Given the description of an element on the screen output the (x, y) to click on. 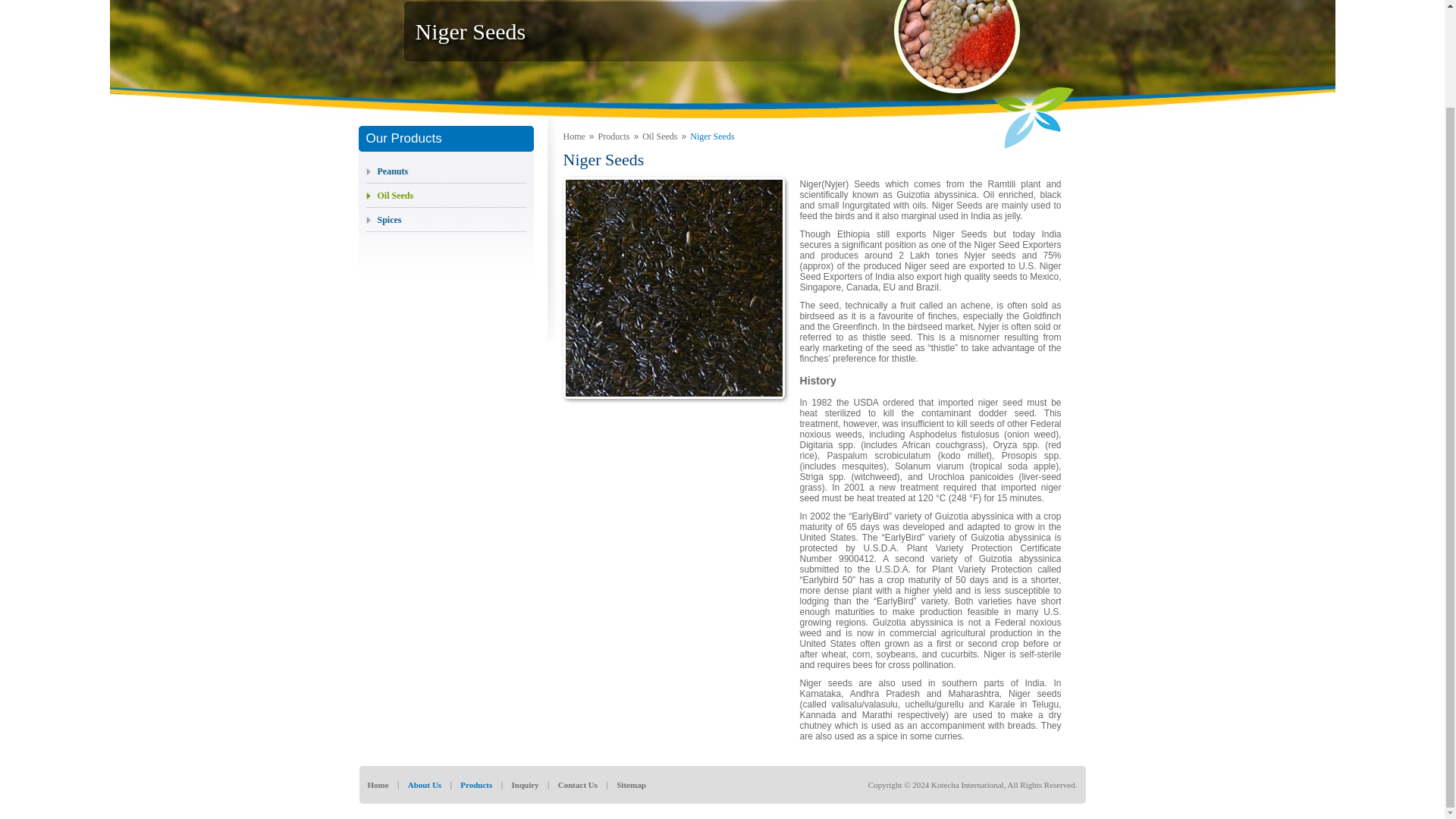
Oil Seeds (389, 195)
Home (573, 136)
About Us (424, 784)
Contact Us (576, 784)
Oil Seeds (659, 136)
Niger Seeds (711, 136)
Peanuts (386, 171)
Products (476, 784)
Products (614, 136)
Spices (383, 219)
Sitemap (630, 784)
Inquiry (525, 784)
Home (377, 784)
